Given the description of an element on the screen output the (x, y) to click on. 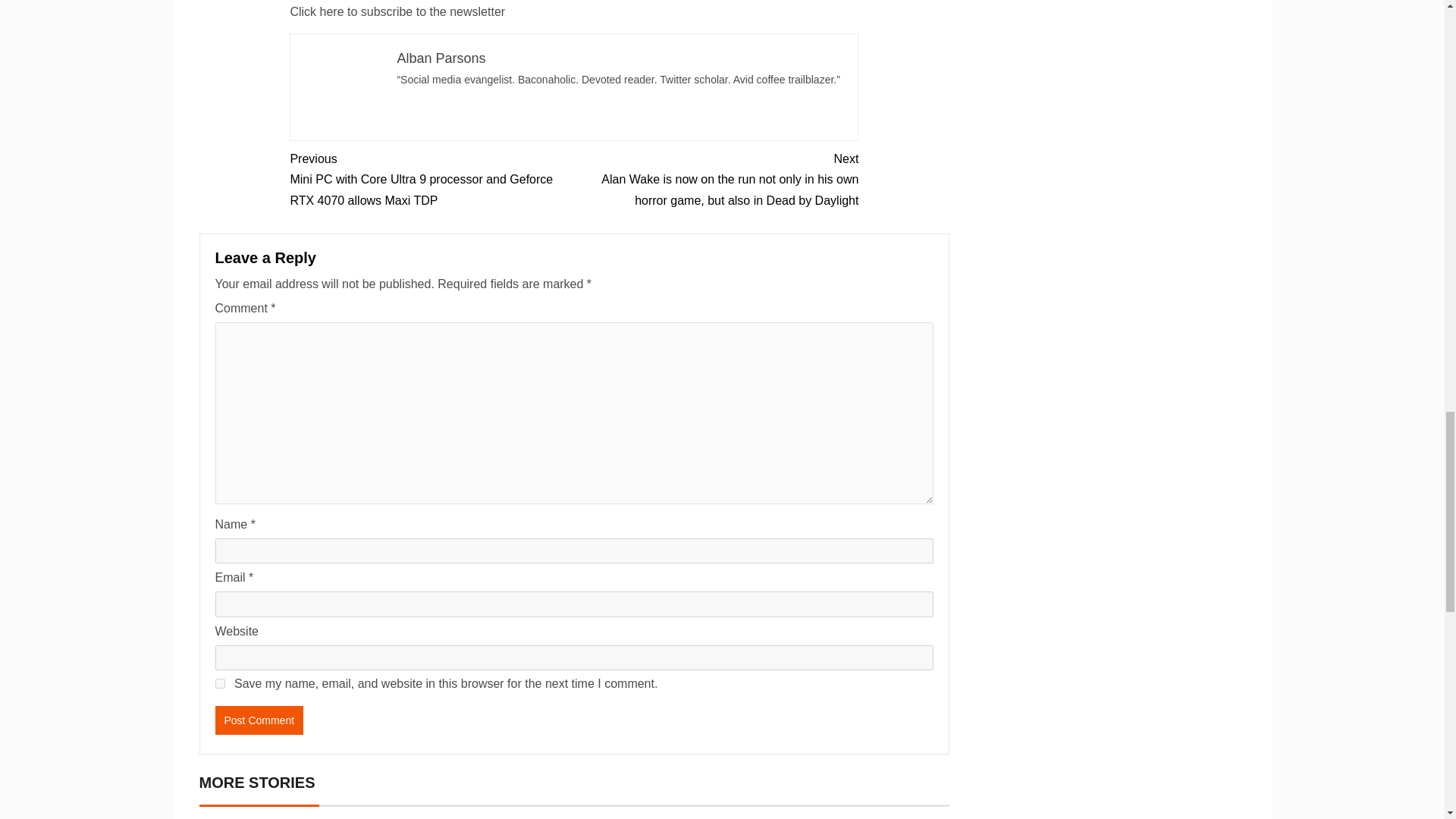
Post Comment (259, 719)
yes (220, 683)
Alban Parsons (440, 58)
